Given the description of an element on the screen output the (x, y) to click on. 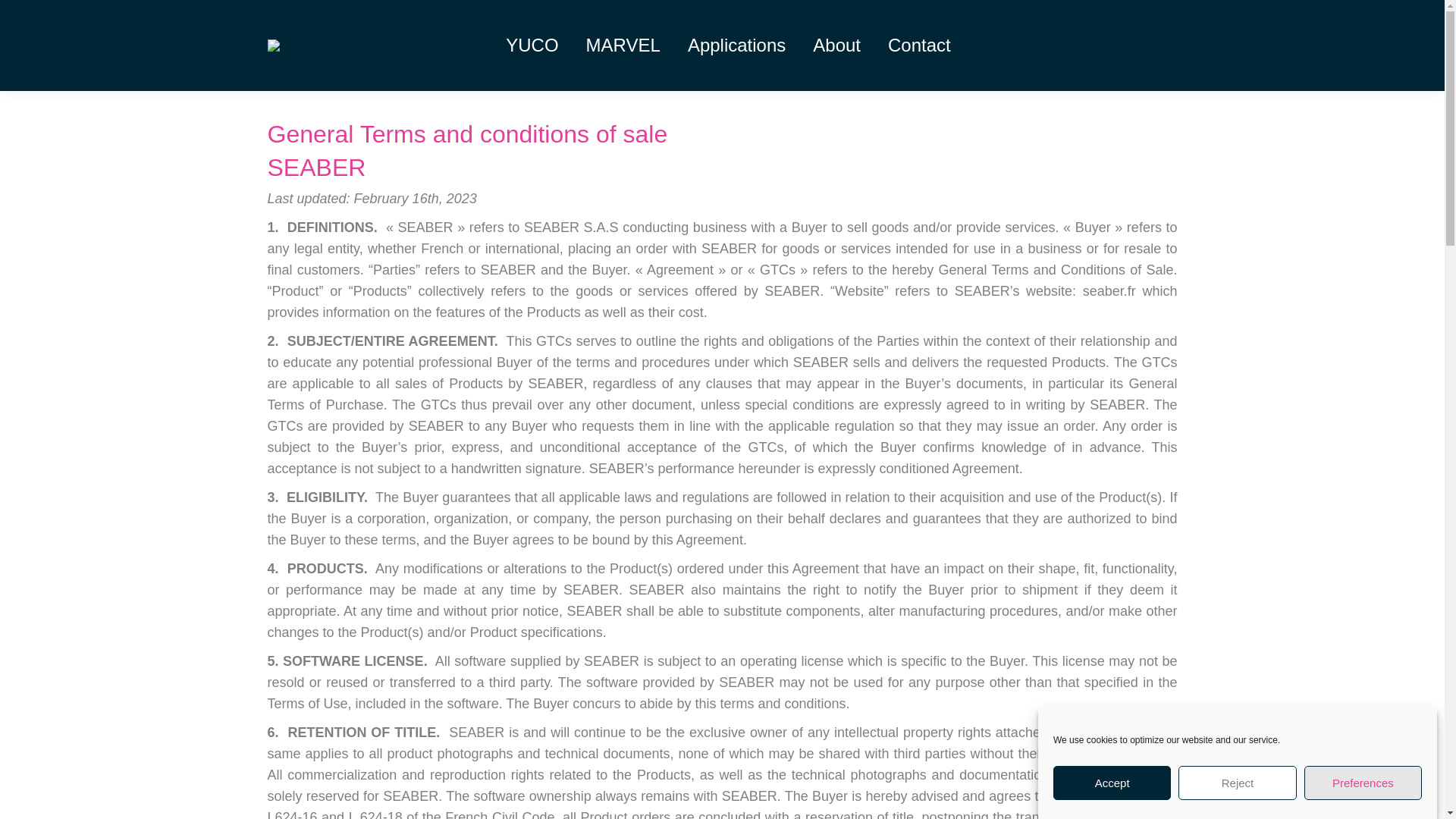
Contact (919, 44)
YUCO (531, 44)
Applications (736, 44)
MARVEL (623, 44)
